Given the description of an element on the screen output the (x, y) to click on. 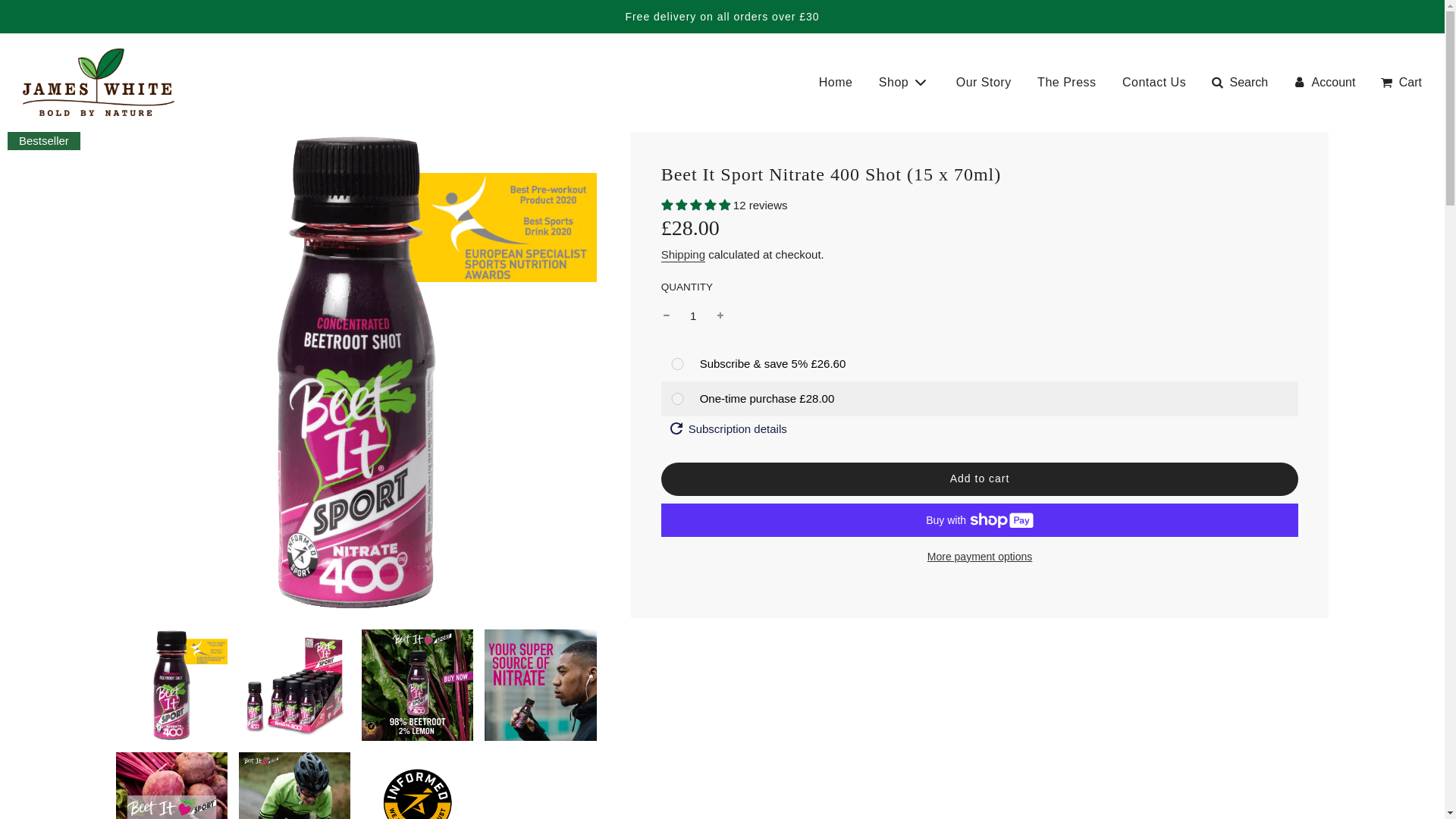
subscription (676, 363)
1 (693, 316)
onetime (676, 398)
Log in (1323, 82)
